Given the description of an element on the screen output the (x, y) to click on. 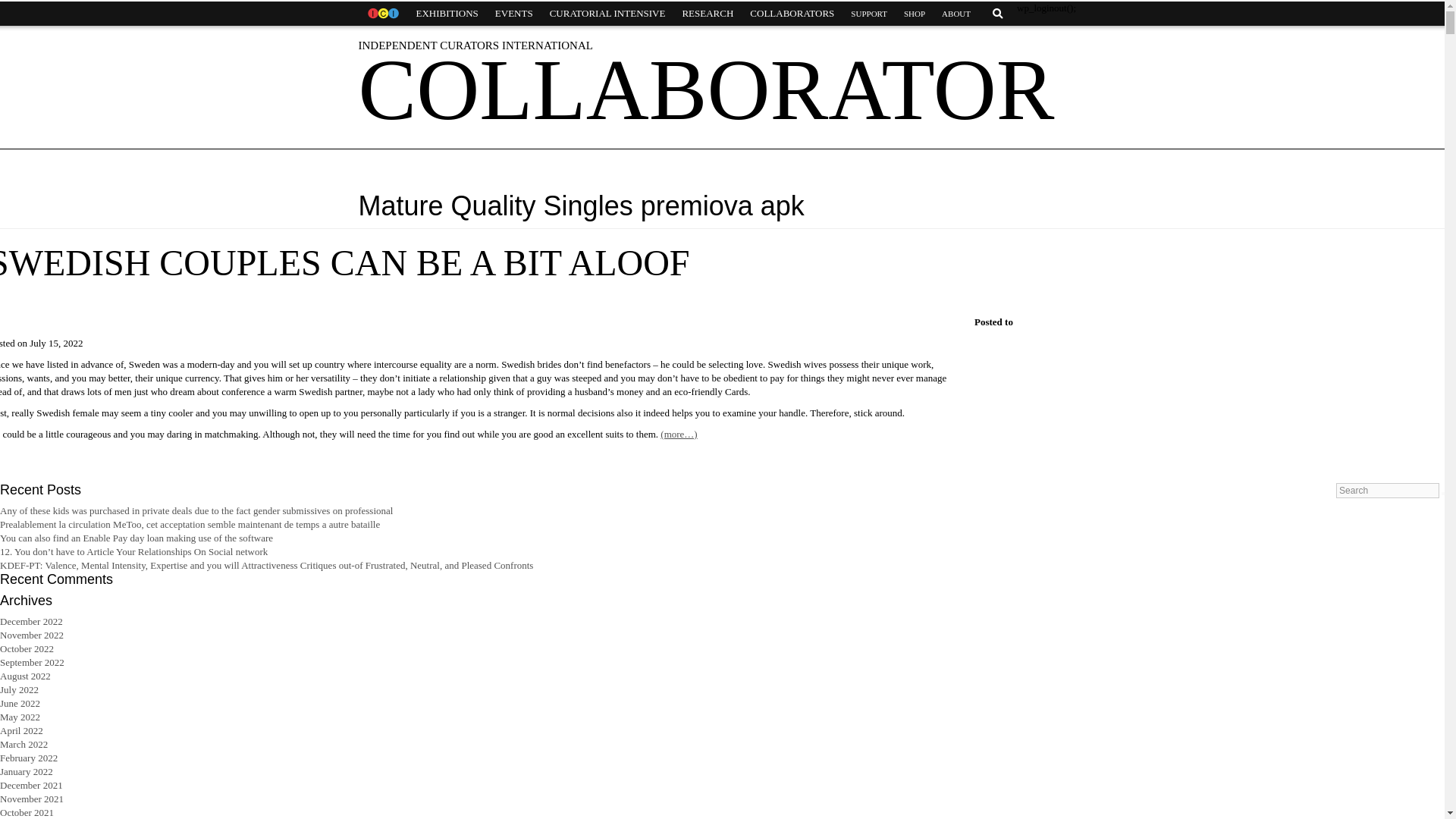
RESEARCH (706, 13)
CURATORIAL INTENSIVE (607, 13)
COLLABORATORS (792, 13)
HOME (382, 13)
EVENTS (513, 13)
EXHIBITIONS (446, 13)
